Given the description of an element on the screen output the (x, y) to click on. 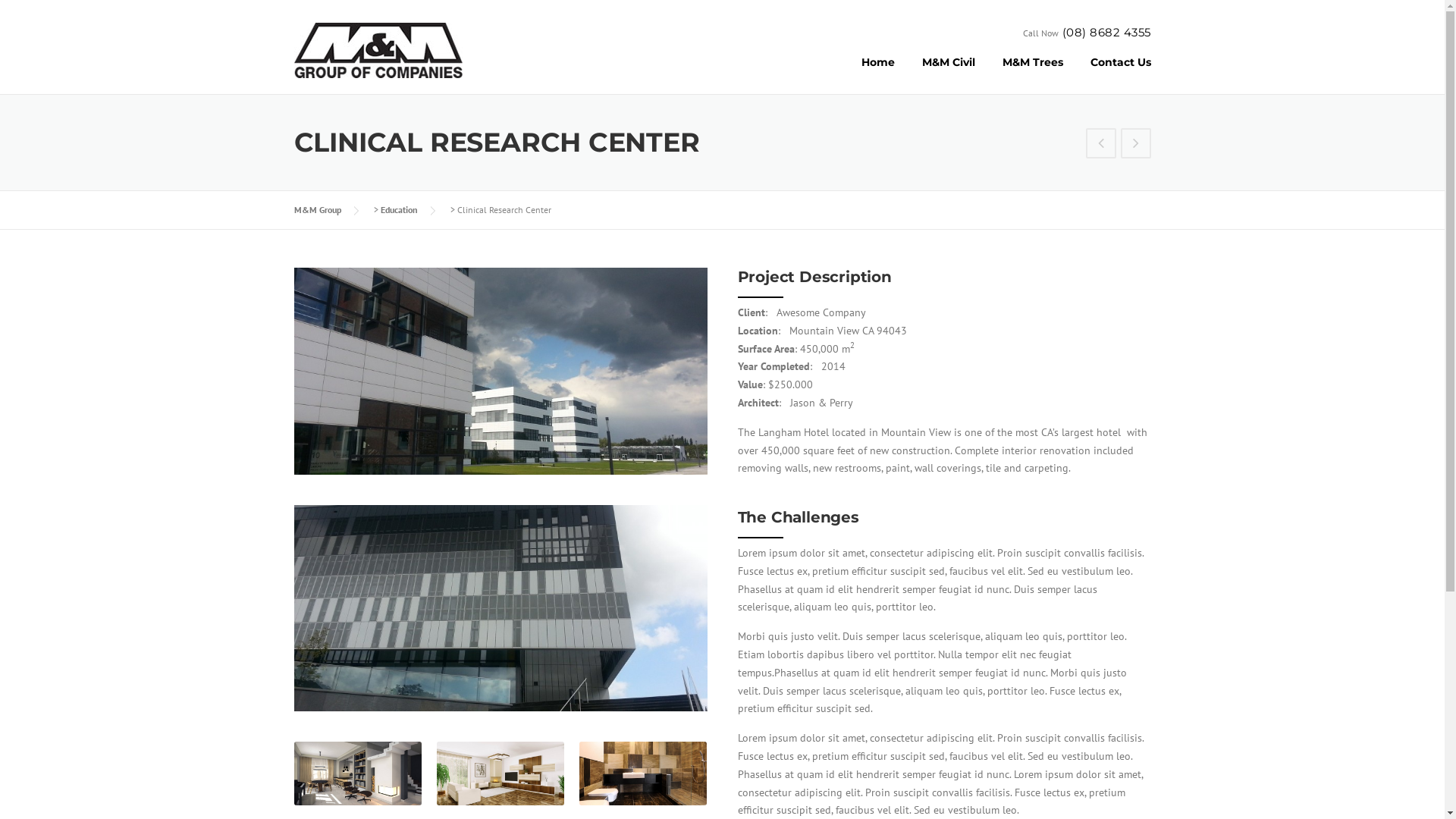
Home Element type: text (877, 73)
M&M Civil Element type: text (948, 73)
M&M Trees Element type: text (1032, 73)
Contact Us Element type: text (1113, 73)
Guadalupe Clinic Renovation Element type: hover (1100, 144)
M&M Group Element type: hover (378, 49)
Inside Renovation Element type: hover (1135, 144)
Education Element type: text (398, 209)
M&M Group Element type: text (317, 209)
